Given the description of an element on the screen output the (x, y) to click on. 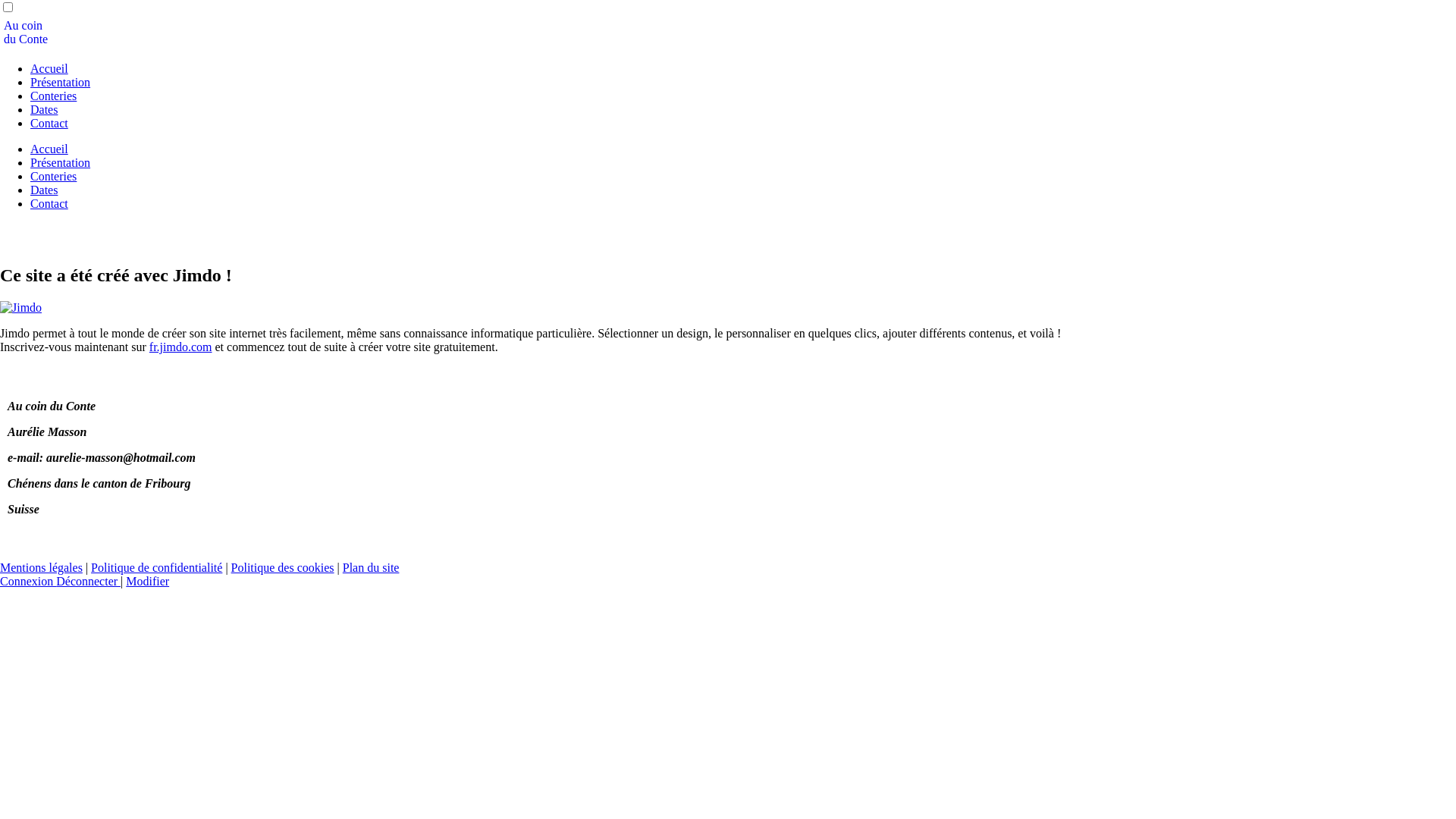
Accueil Element type: text (49, 148)
Modifier Element type: text (147, 580)
Conteries Element type: text (53, 95)
Dates Element type: text (43, 109)
Dates Element type: text (43, 189)
Connexion Element type: text (28, 580)
Politique des cookies Element type: text (282, 567)
Jimdo Element type: hover (20, 307)
Conteries Element type: text (53, 175)
Contact Element type: text (49, 203)
Contact Element type: text (49, 122)
Plan du site Element type: text (370, 567)
Au coin
du Conte Element type: text (25, 31)
Accueil Element type: text (49, 68)
fr.jimdo.com Element type: text (180, 346)
